Given the description of an element on the screen output the (x, y) to click on. 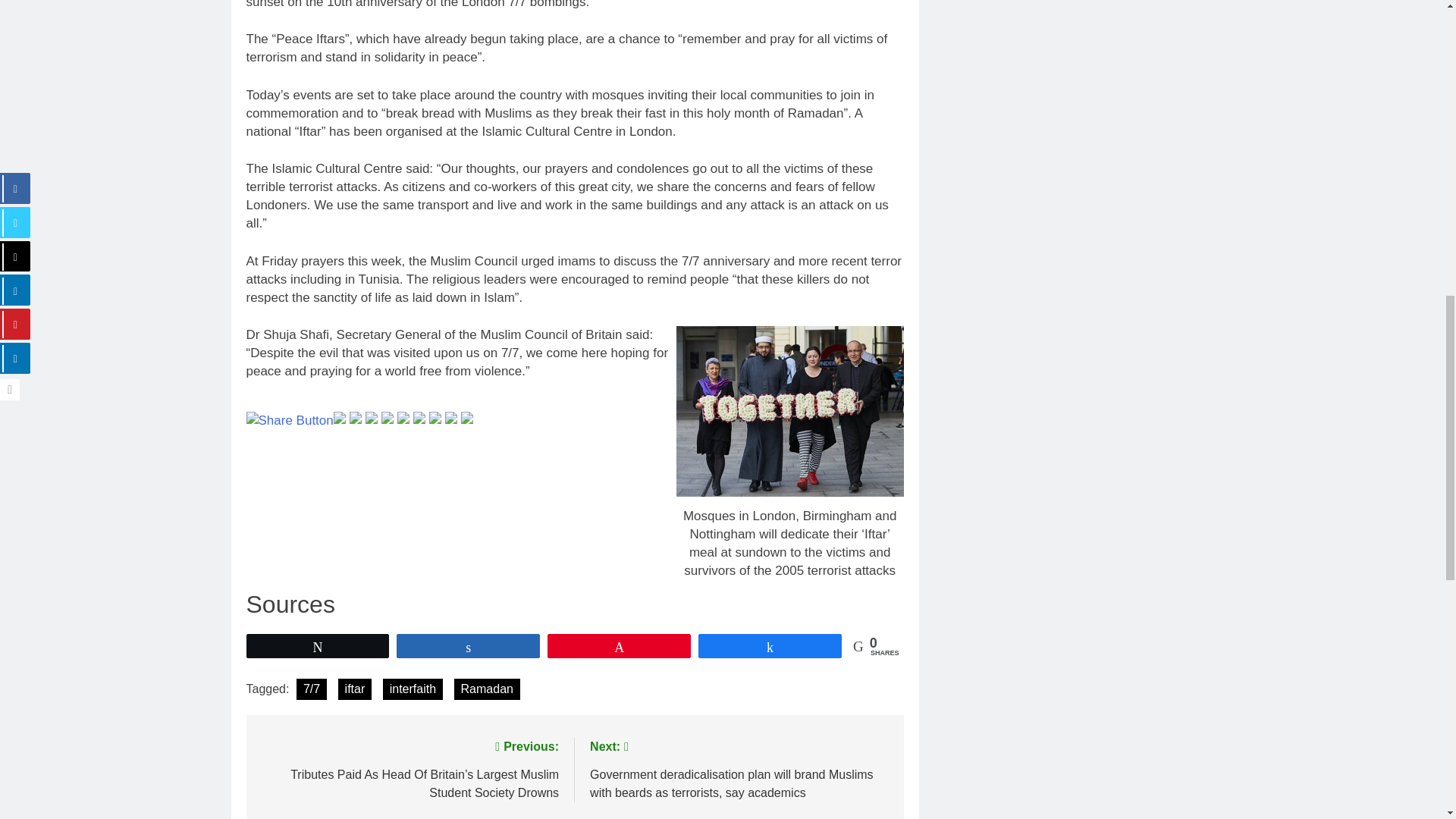
Reddit (421, 415)
Print (469, 415)
Delicious (453, 415)
StumbleUpon (389, 415)
Twitter (341, 415)
Bebo (437, 415)
Facebook (357, 415)
Digg (405, 415)
Linkedin (373, 415)
